Given the description of an element on the screen output the (x, y) to click on. 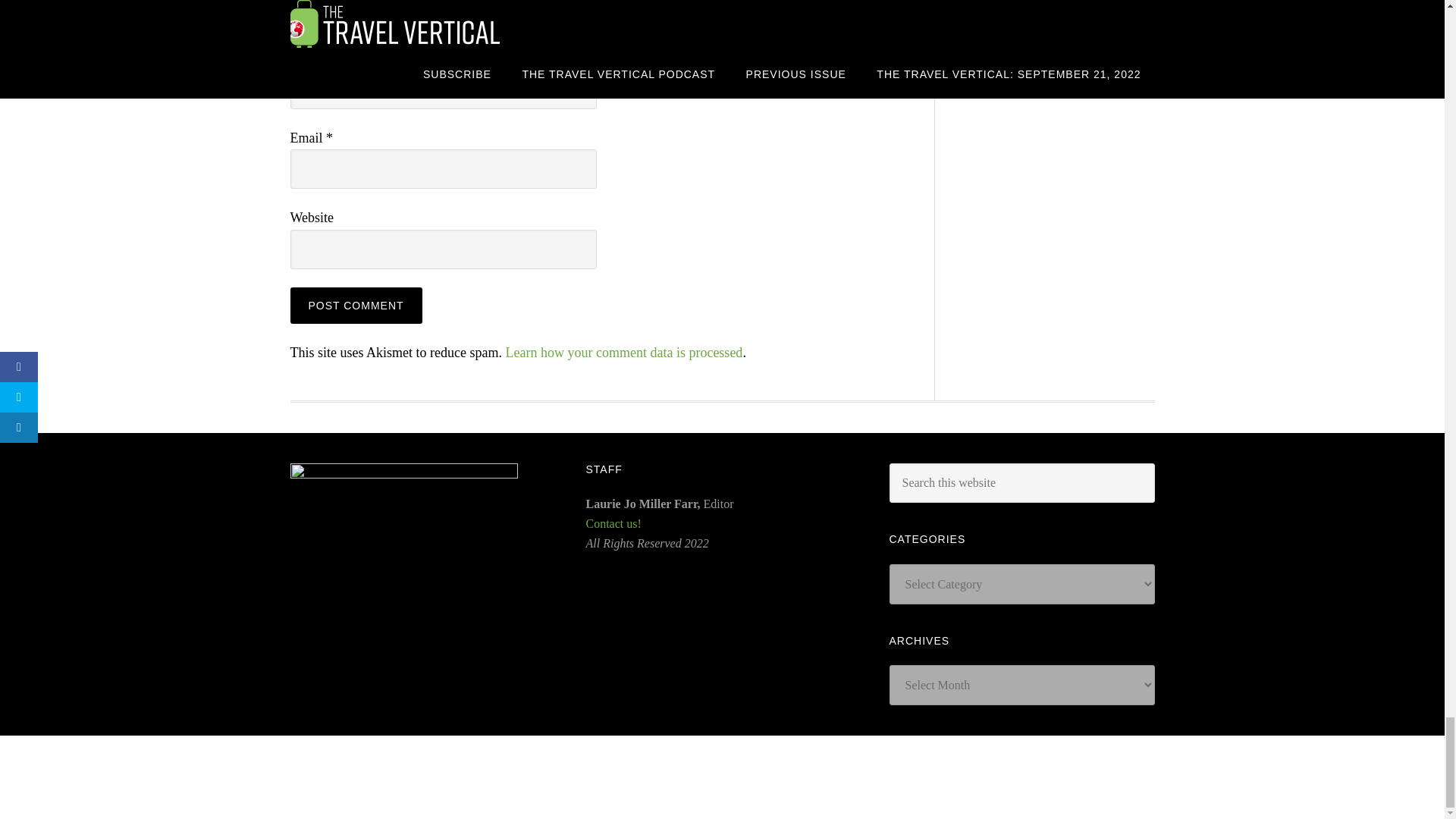
Post Comment (355, 305)
